Given the description of an element on the screen output the (x, y) to click on. 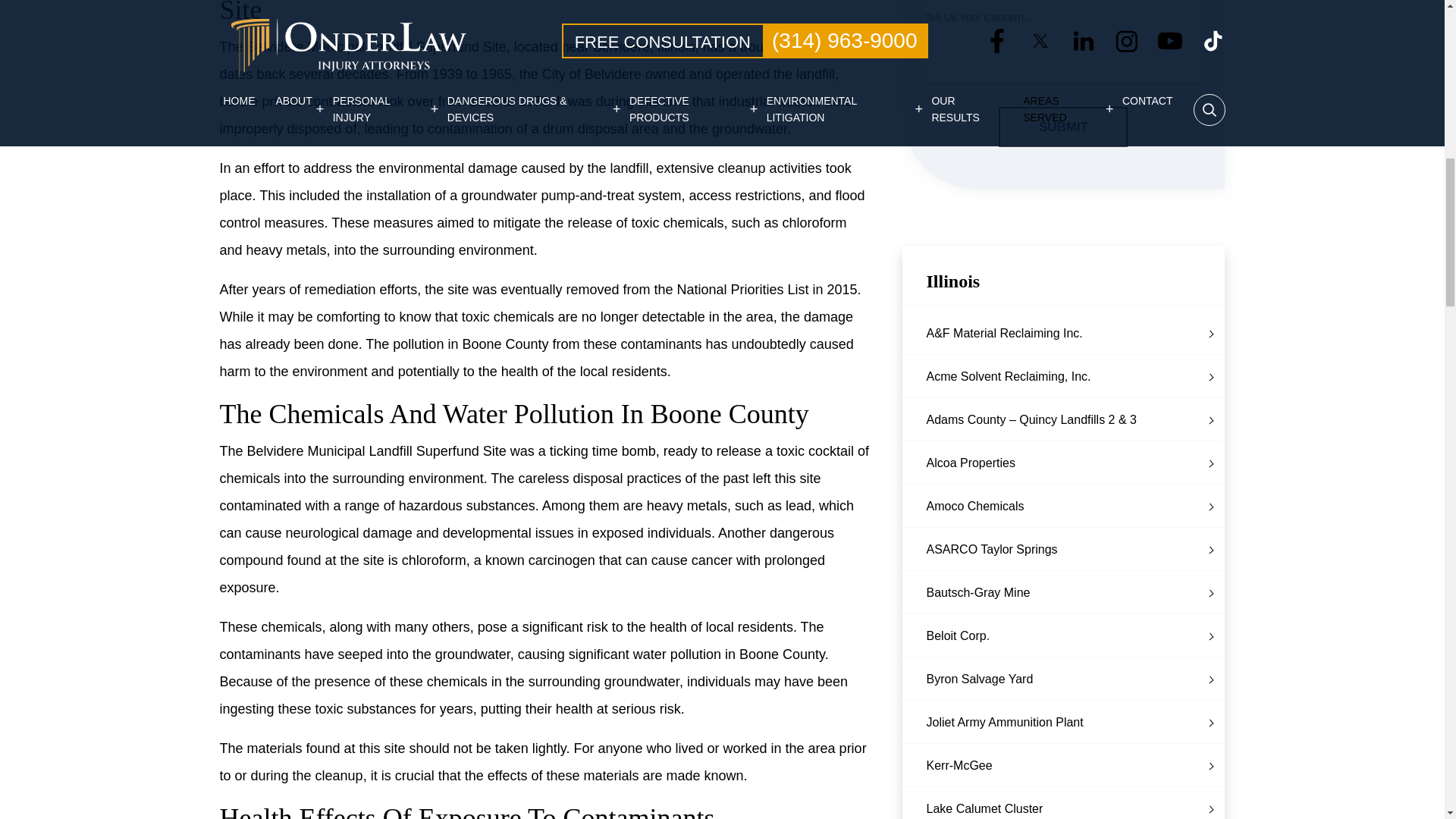
Submit (1062, 127)
